Given the description of an element on the screen output the (x, y) to click on. 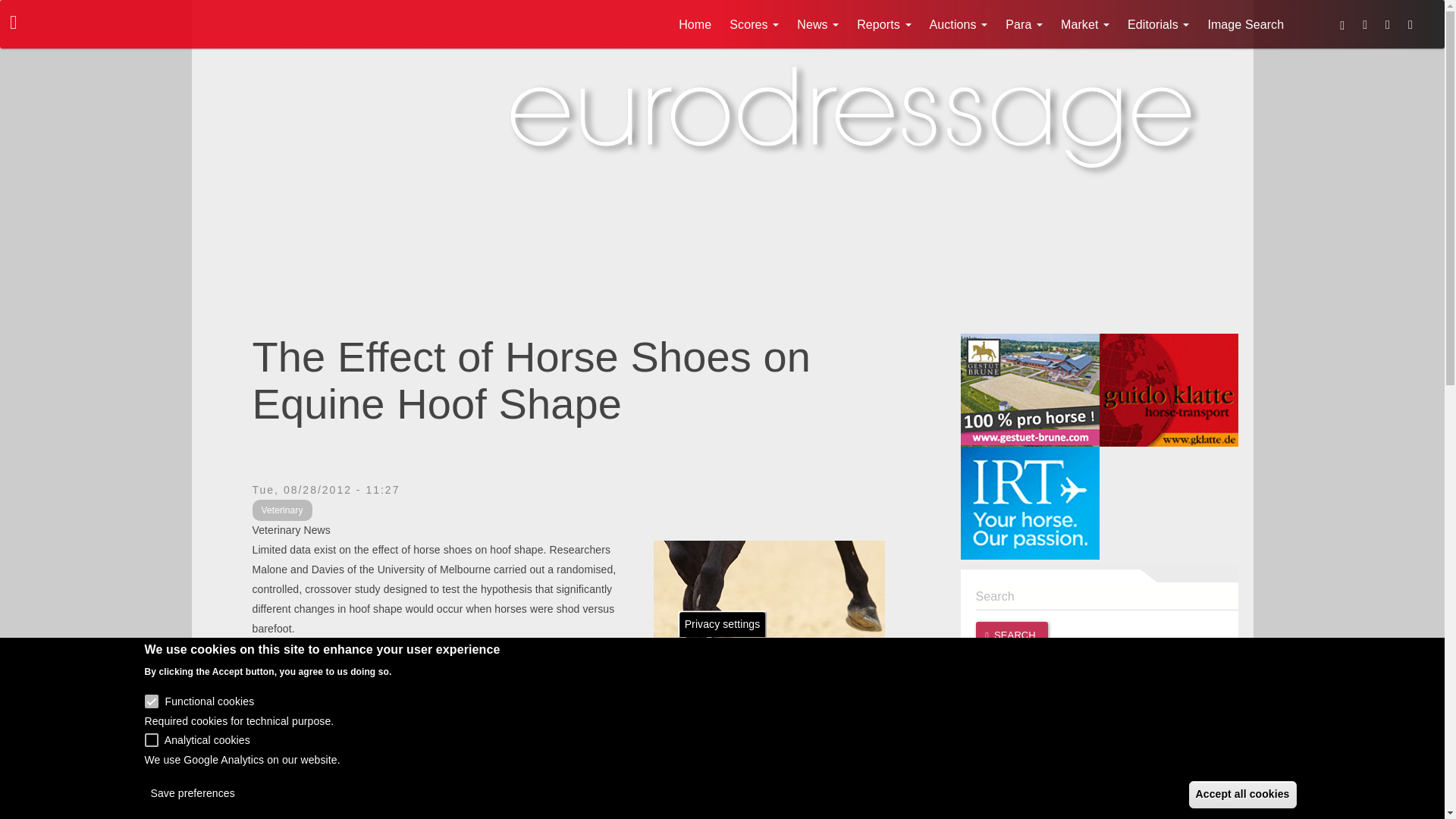
Reports (883, 24)
Scores (753, 24)
Home (694, 24)
Auctions (958, 24)
News (817, 24)
Enter the terms you wish to search for. (1106, 596)
